Given the description of an element on the screen output the (x, y) to click on. 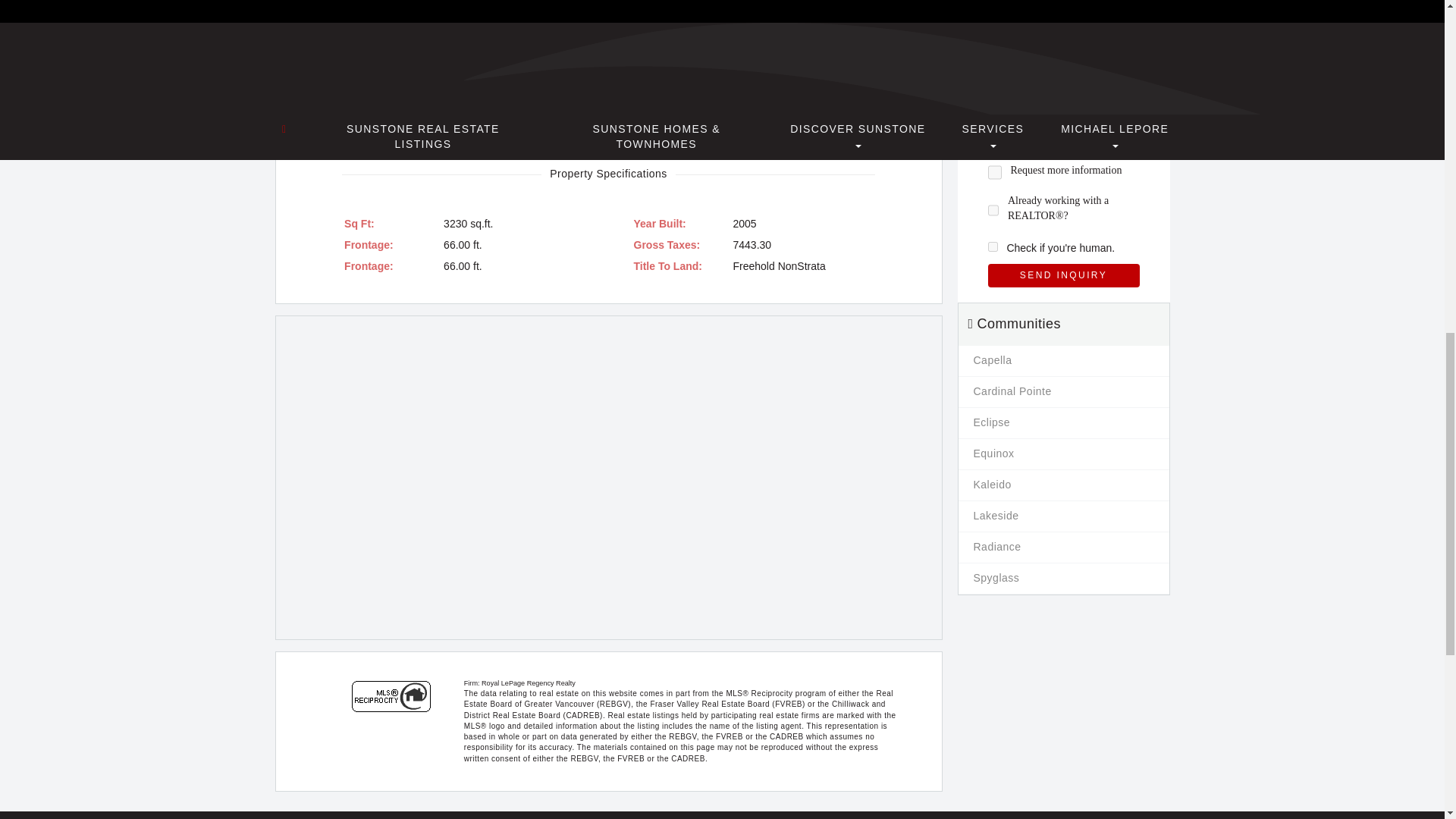
on (994, 142)
1 (992, 246)
on (994, 172)
